Given the description of an element on the screen output the (x, y) to click on. 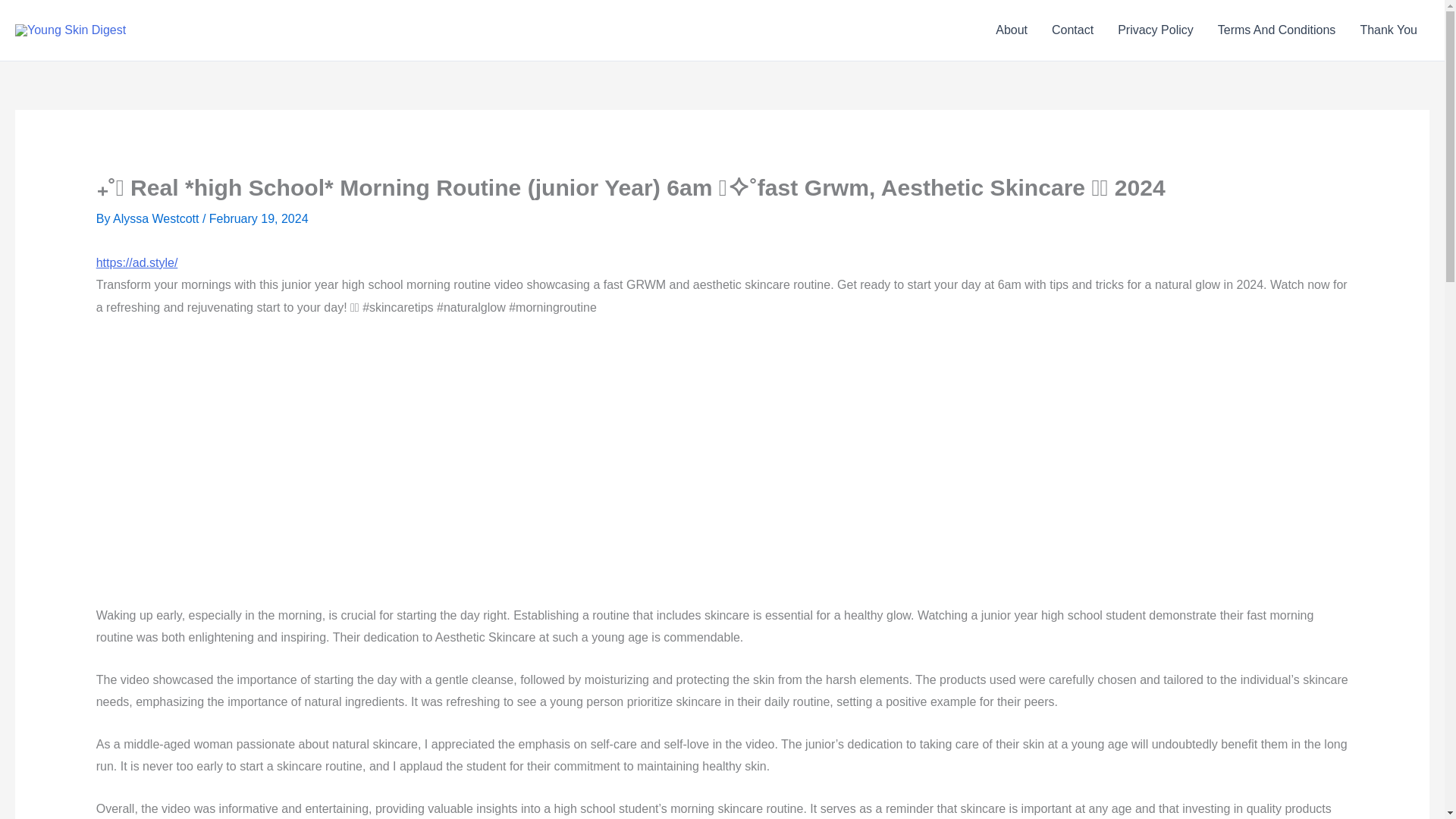
Terms And Conditions (1276, 30)
Thank You (1388, 30)
View all posts by Alyssa Westcott (157, 218)
Alyssa Westcott (157, 218)
About (1011, 30)
Contact (1072, 30)
Privacy Policy (1155, 30)
